Given the description of an element on the screen output the (x, y) to click on. 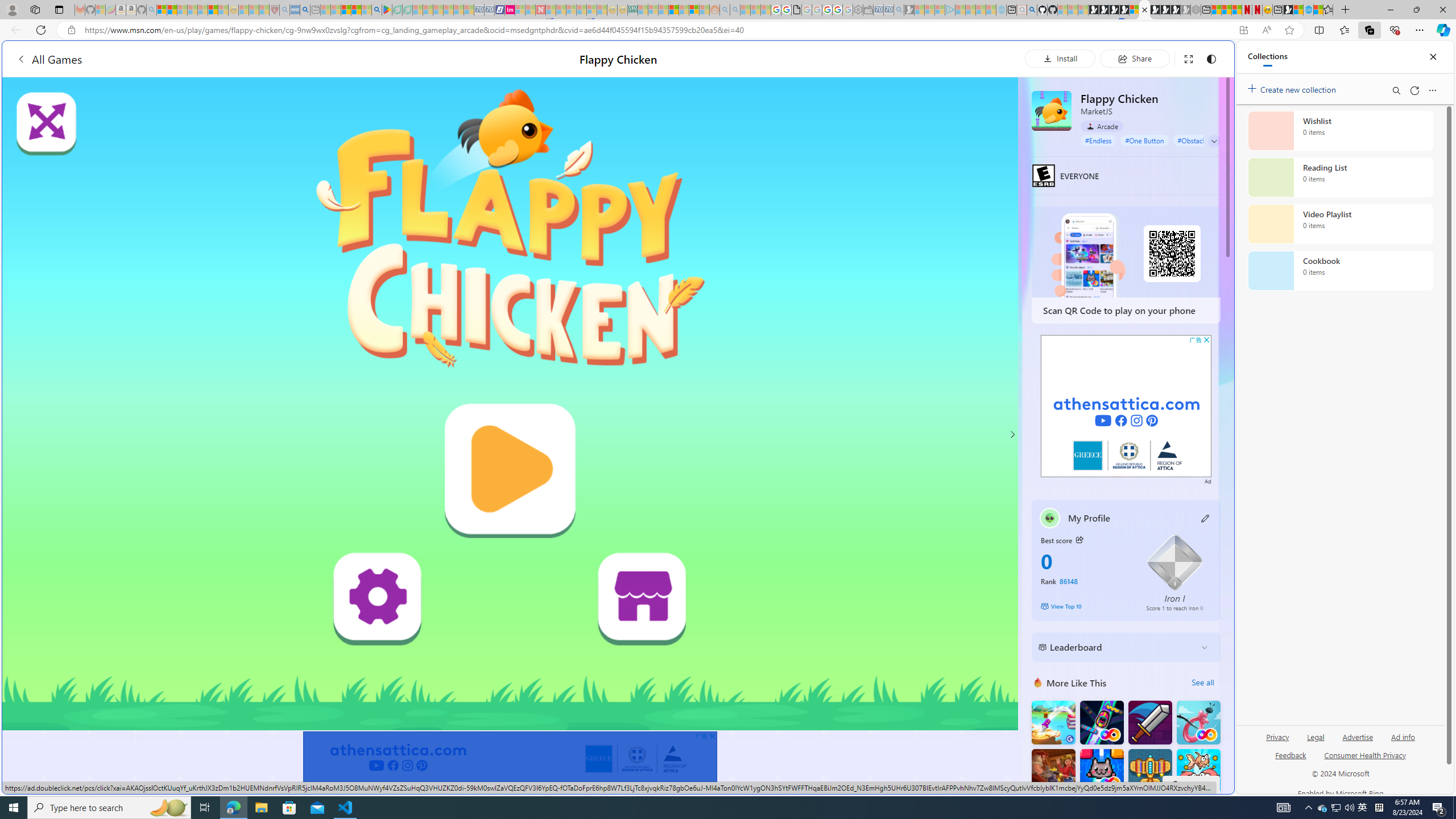
Pets - MSN (356, 9)
AutomationID: canvas (509, 403)
Cookbook collection, 0 items (1339, 270)
